Given the description of an element on the screen output the (x, y) to click on. 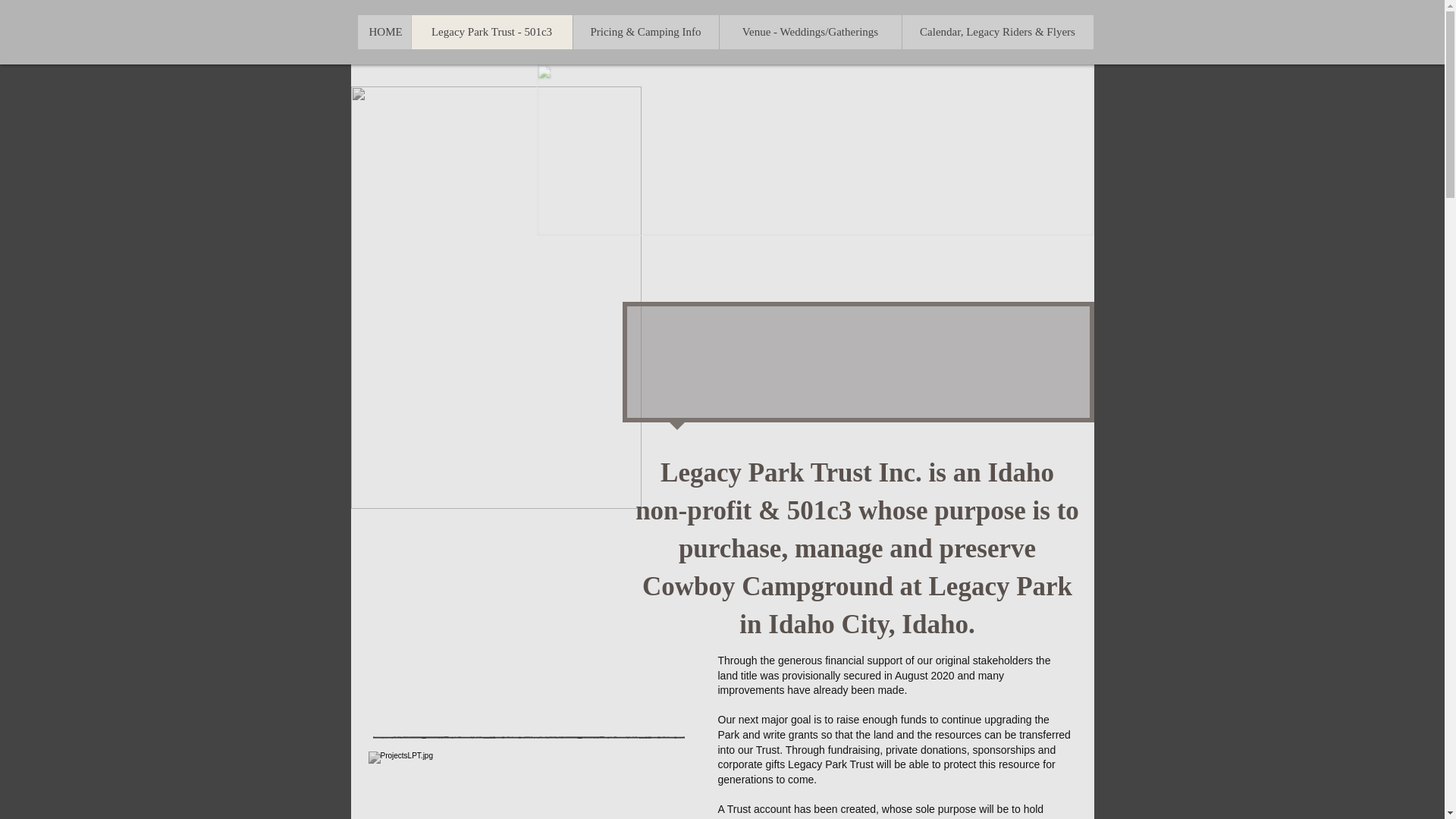
Legacy Park Trust - 501c3 (491, 32)
ProjectsCompleted.jpg (526, 785)
HOME (384, 32)
